Given the description of an element on the screen output the (x, y) to click on. 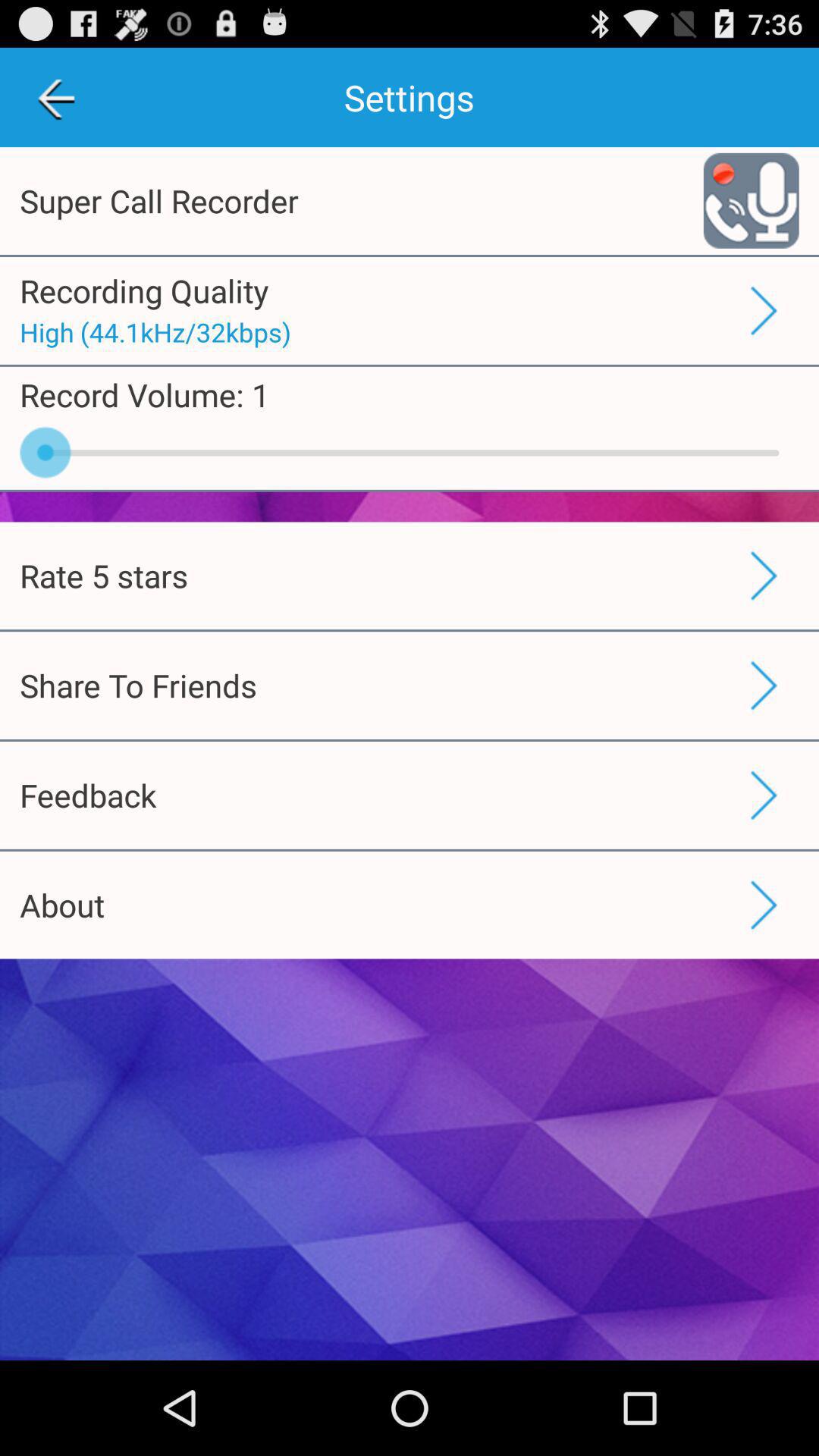
go back (55, 97)
